Given the description of an element on the screen output the (x, y) to click on. 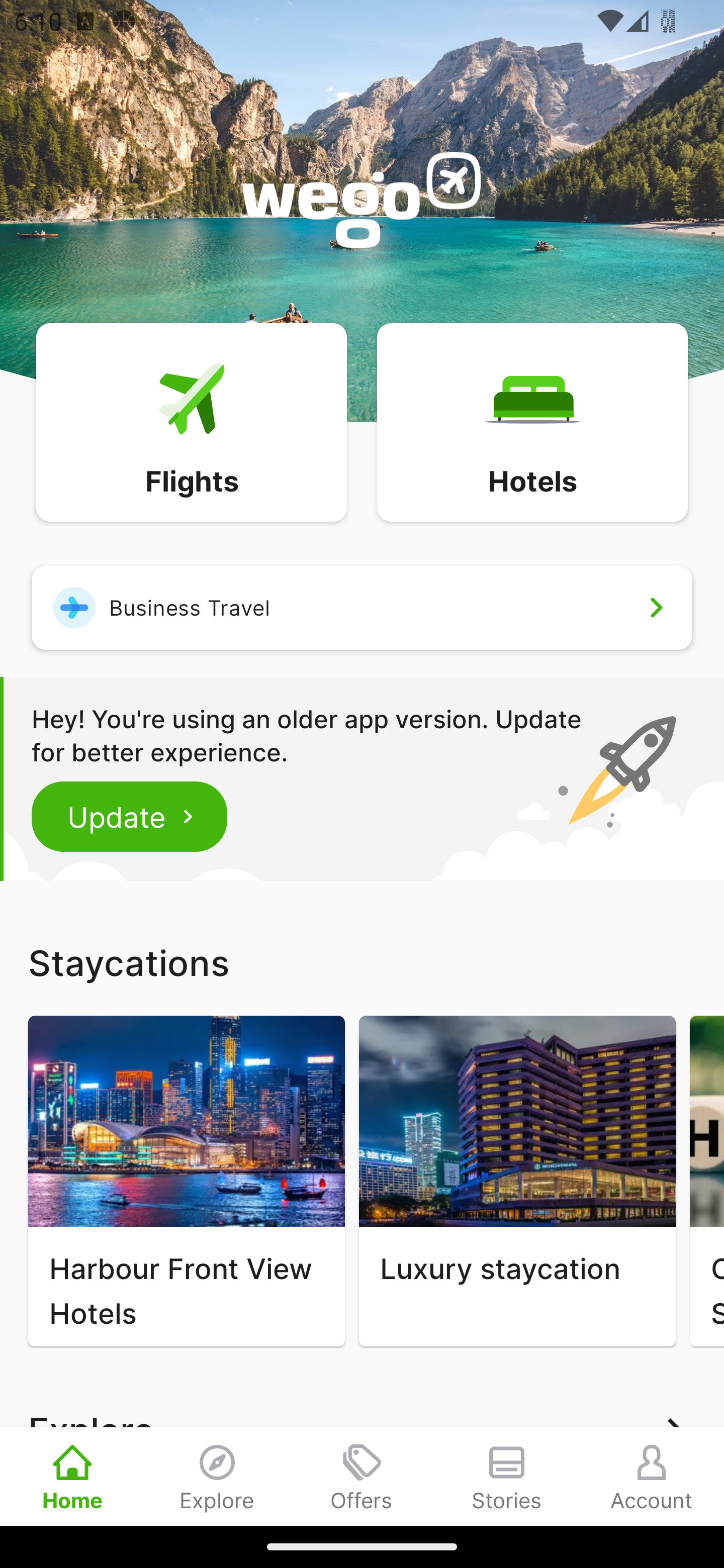
Flights (191, 420)
Hotels (532, 420)
Business Travel (361, 607)
Update (129, 815)
Staycations (362, 962)
Harbour Front View Hotels (186, 1181)
Luxury staycation (517, 1181)
Explore (216, 1475)
Offers (361, 1475)
Stories (506, 1475)
Account (651, 1475)
